Given the description of an element on the screen output the (x, y) to click on. 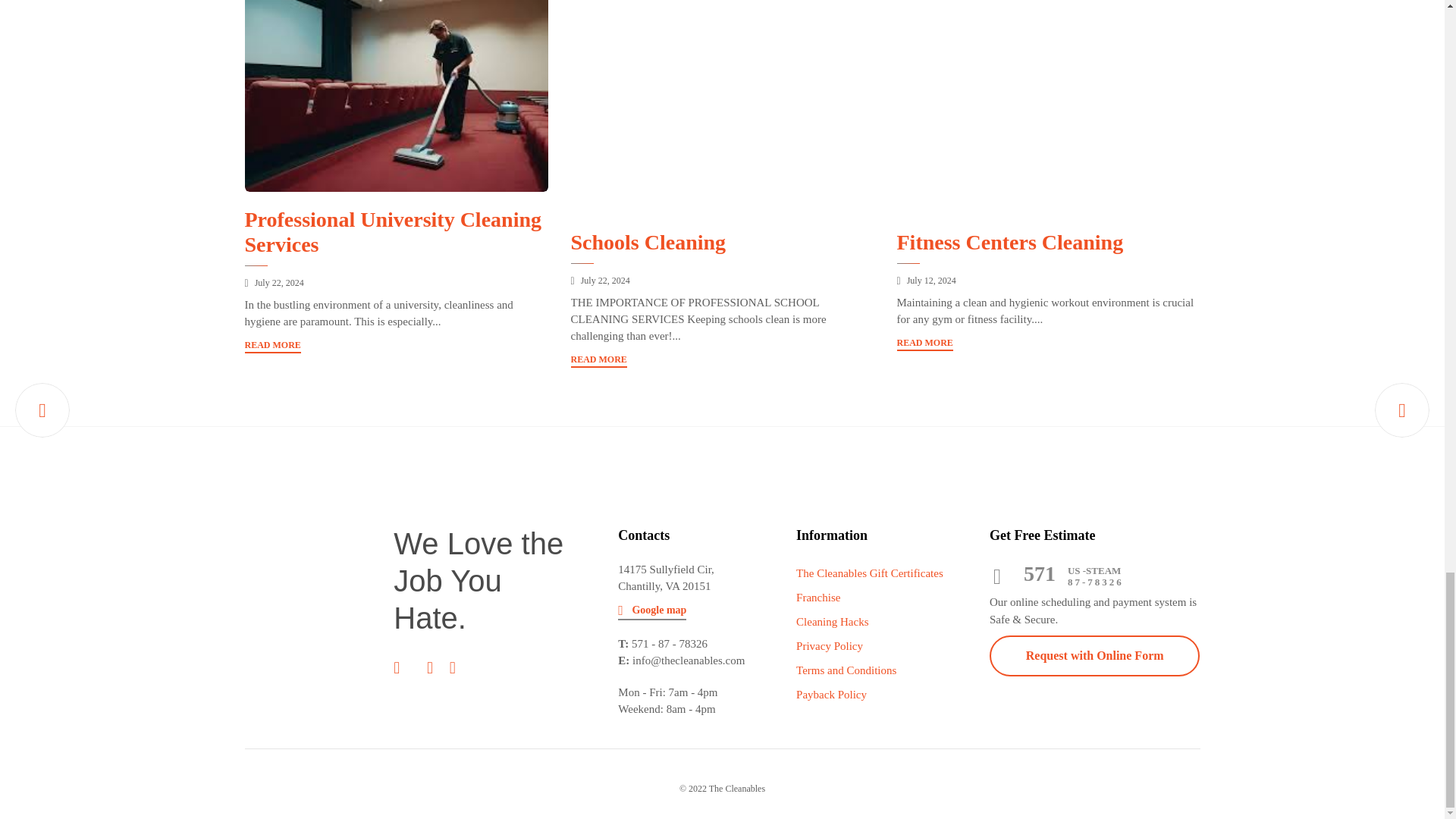
Fitness Centers Cleaning (1047, 107)
Professional University Cleaning Services (279, 282)
Schools Cleaning (605, 280)
Professional University Cleaning Services (395, 95)
Schools Cleaning (721, 107)
Professional University Cleaning Services (392, 232)
Schools Cleaning (647, 241)
